Given the description of an element on the screen output the (x, y) to click on. 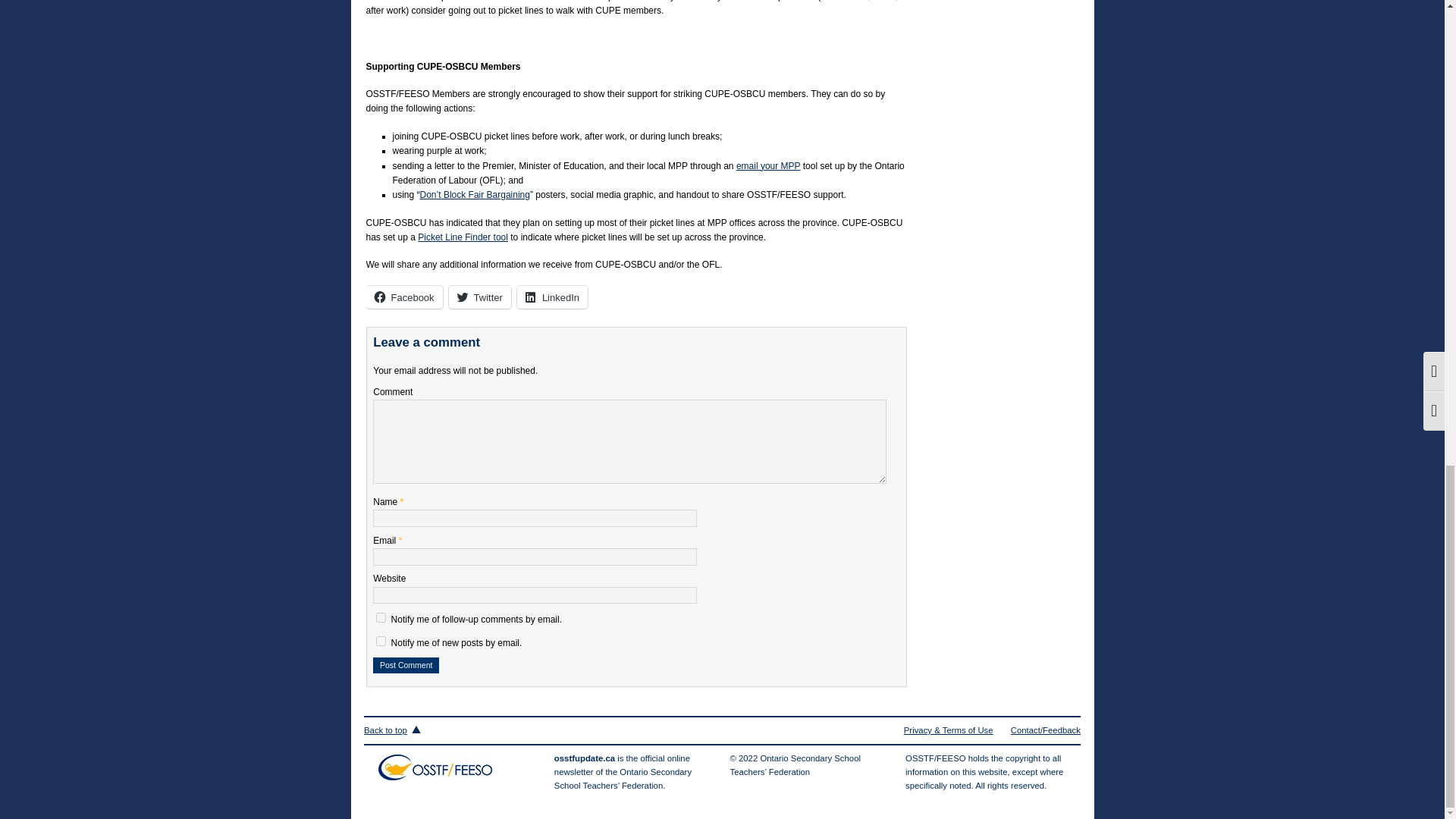
email your MPP (767, 164)
LinkedIn (552, 296)
subscribe (380, 617)
Facebook (403, 296)
Picket Line Finder tool (462, 236)
Twitter (479, 296)
Post Comment (405, 665)
Post Comment (405, 665)
subscribe (380, 641)
Back to top (393, 729)
